Given the description of an element on the screen output the (x, y) to click on. 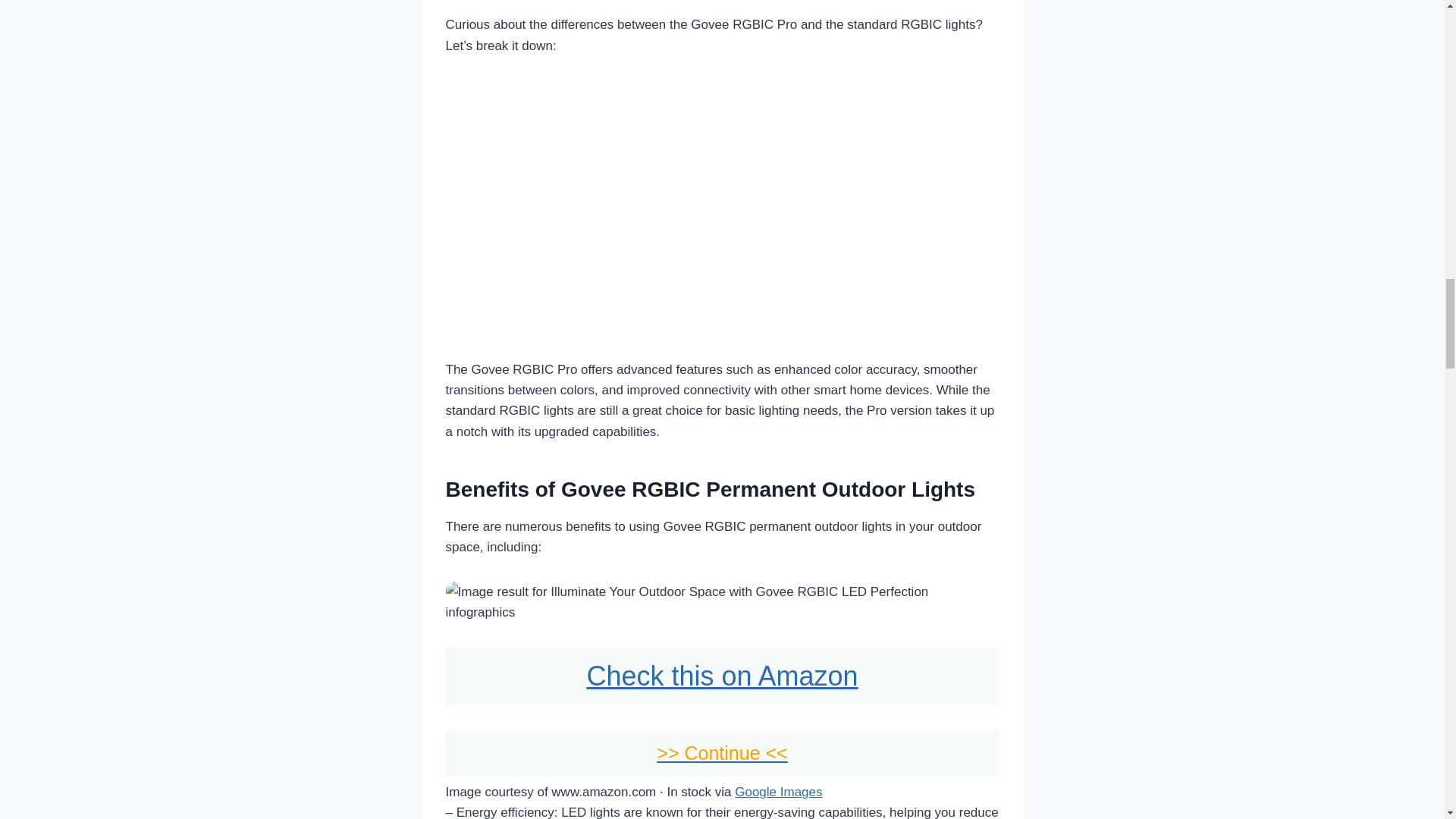
Google Images (778, 791)
